Given the description of an element on the screen output the (x, y) to click on. 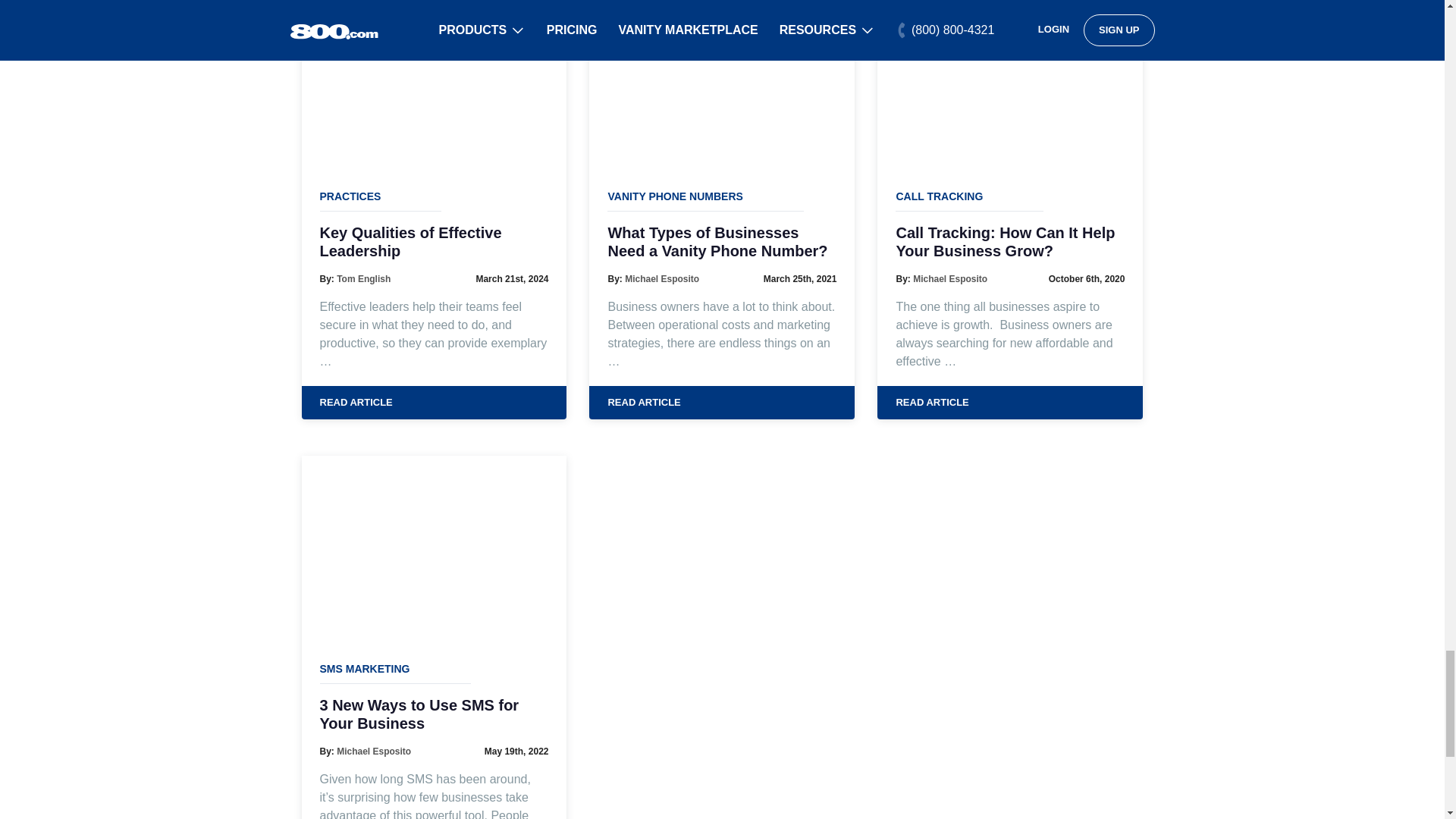
Posts by Michael Esposito (373, 751)
Posts by Tom English (363, 278)
Posts by Michael Esposito (949, 278)
Posts by Michael Esposito (661, 278)
